Given the description of an element on the screen output the (x, y) to click on. 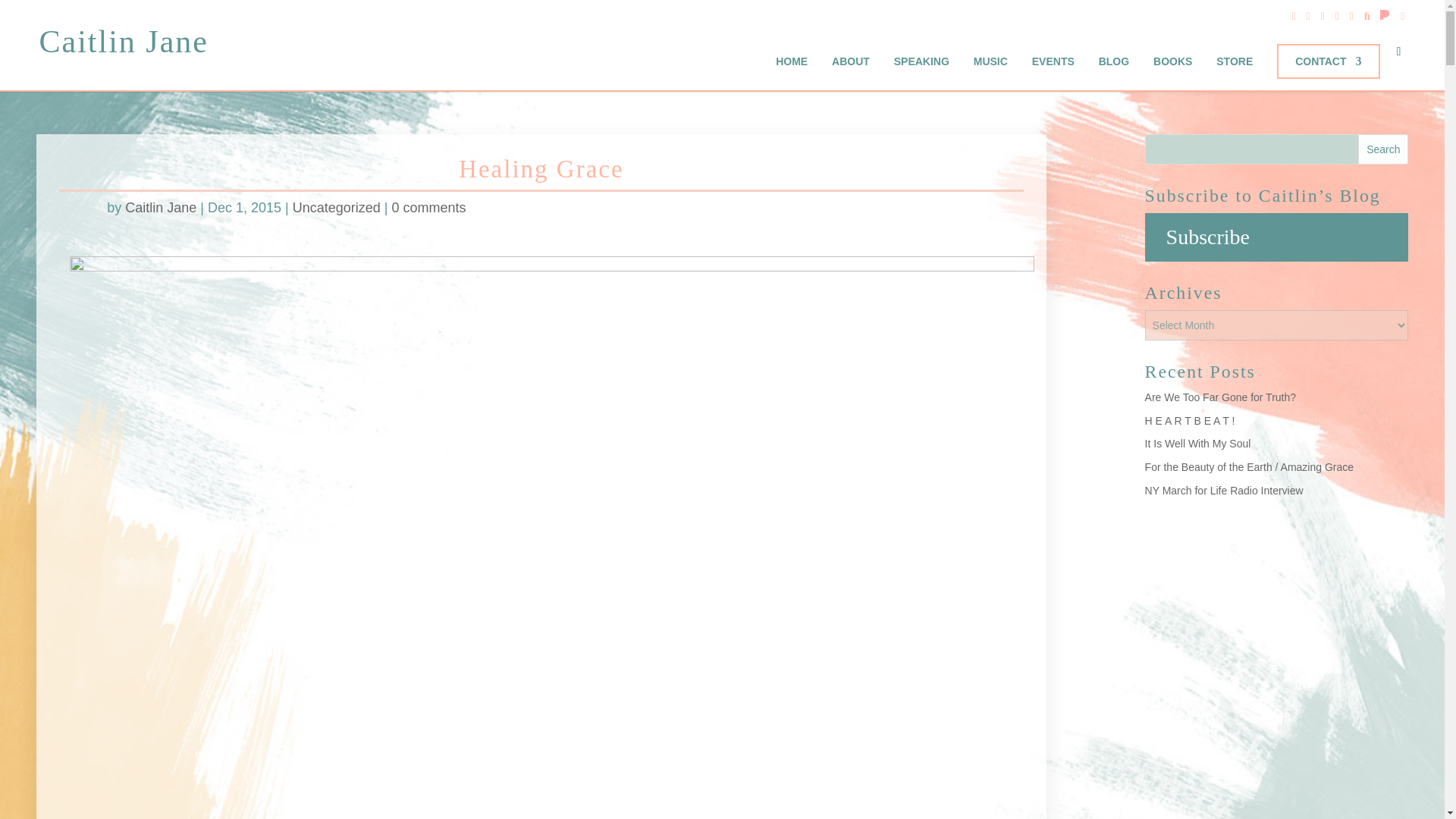
BLOG (1114, 61)
ABOUT (850, 61)
0 comments (428, 207)
Posts by Caitlin Jane (160, 207)
Caitlin Jane (123, 43)
Uncategorized (336, 207)
CONTACT (1328, 61)
BOOKS (1172, 61)
SPEAKING (921, 61)
Search (1382, 149)
STORE (1233, 61)
HOME (792, 61)
EVENTS (1053, 61)
Caitlin Jane (160, 207)
MUSIC (990, 61)
